Given the description of an element on the screen output the (x, y) to click on. 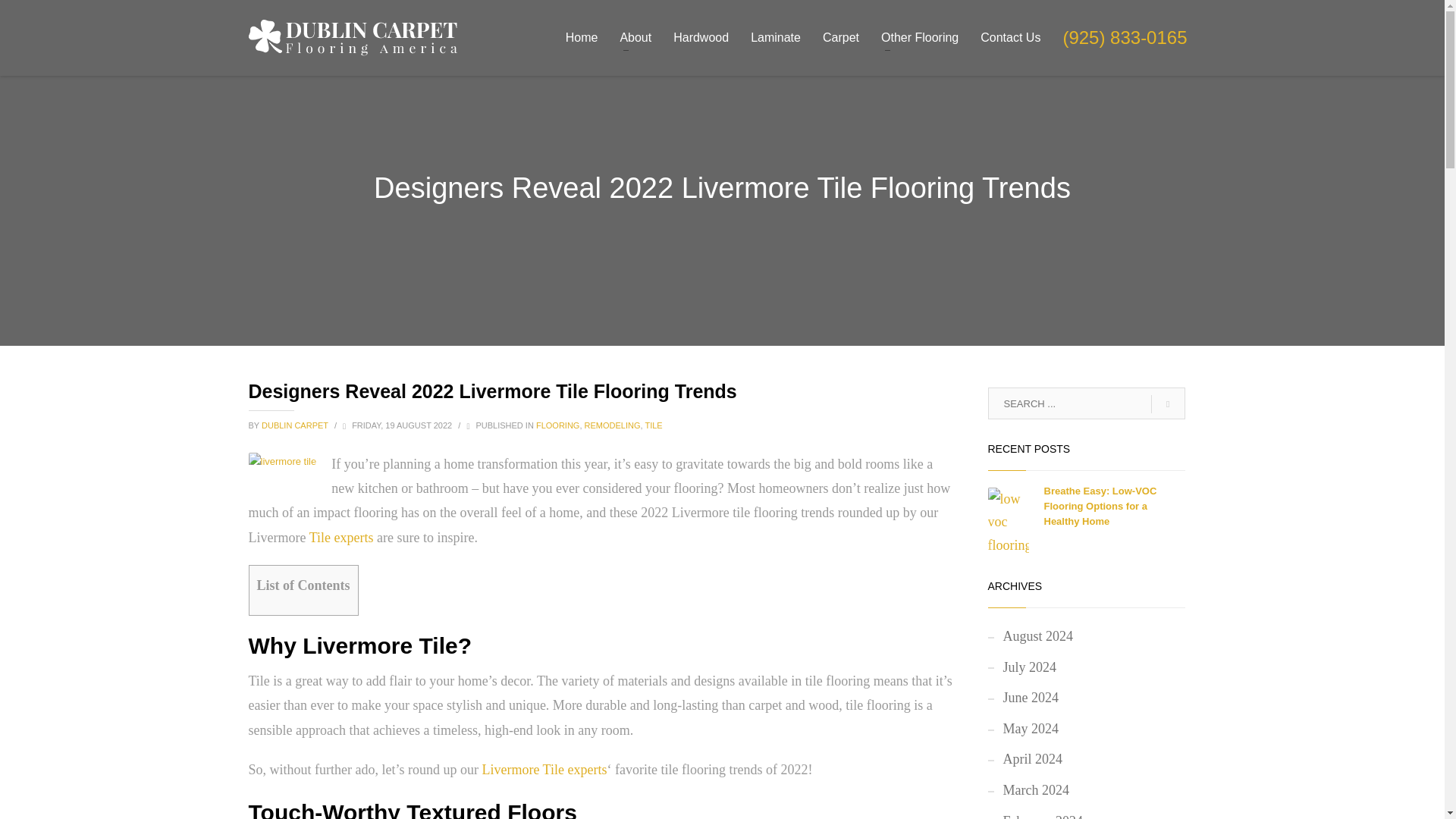
DUBLIN CARPET (296, 424)
About (635, 37)
Laminate (775, 37)
REMODELING (612, 424)
Hardwood (700, 37)
livermore tile (282, 461)
Tile experts (341, 537)
TILE (653, 424)
Carpet (840, 37)
Breathe Easy: Low-VOC Flooring Options for a Healthy Home (1099, 506)
